Given the description of an element on the screen output the (x, y) to click on. 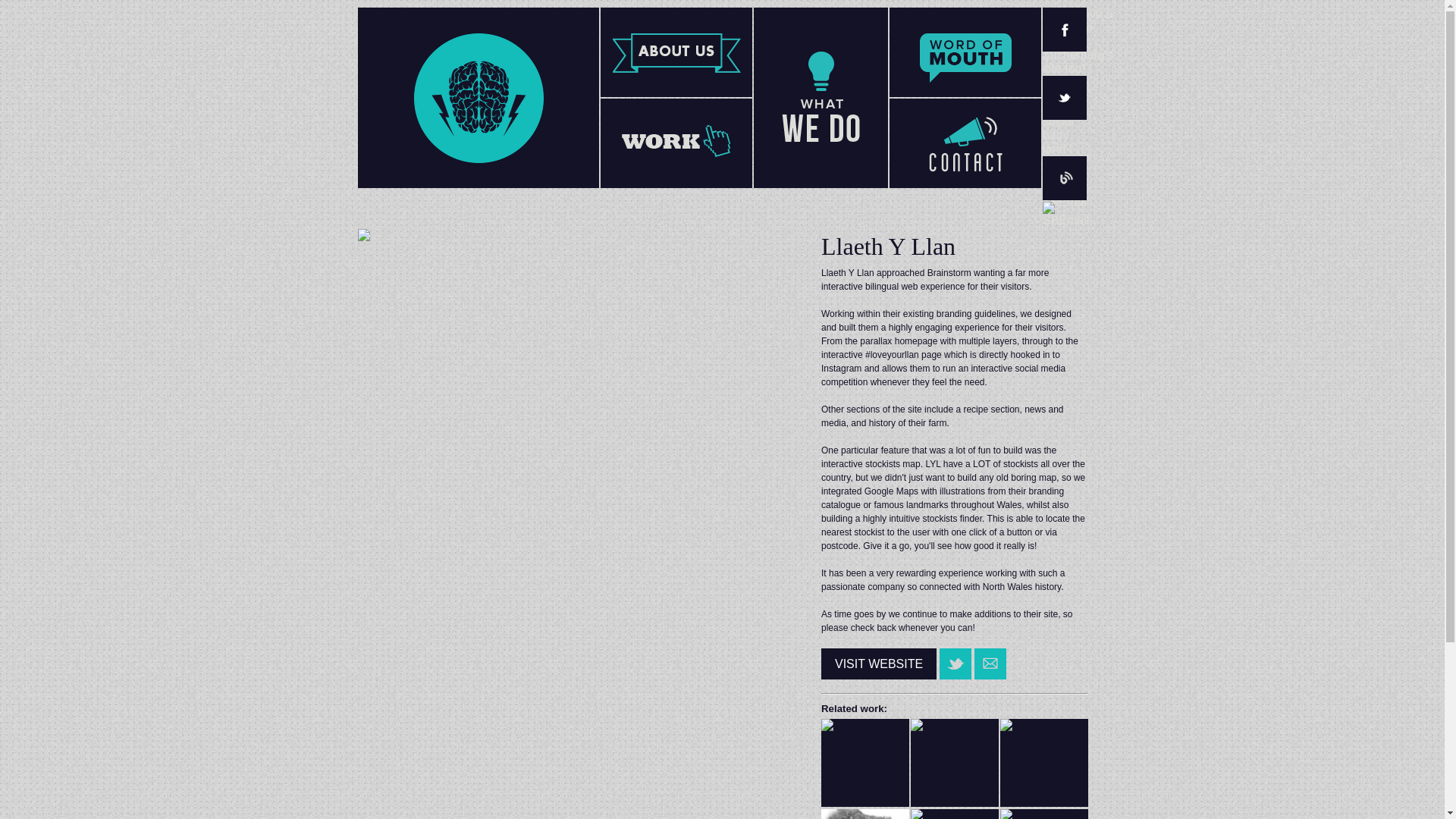
VISIT WEBSITE (878, 663)
Llechwedd Meats (864, 762)
The Darkness (954, 814)
Get in touch (965, 143)
About Brainstorm (675, 52)
Testimonials (965, 52)
Humphreys Signs Ordering (1043, 814)
Our portfolio (675, 143)
Web Design North Wales (478, 198)
Llaeth Y Llan (1043, 762)
